Given the description of an element on the screen output the (x, y) to click on. 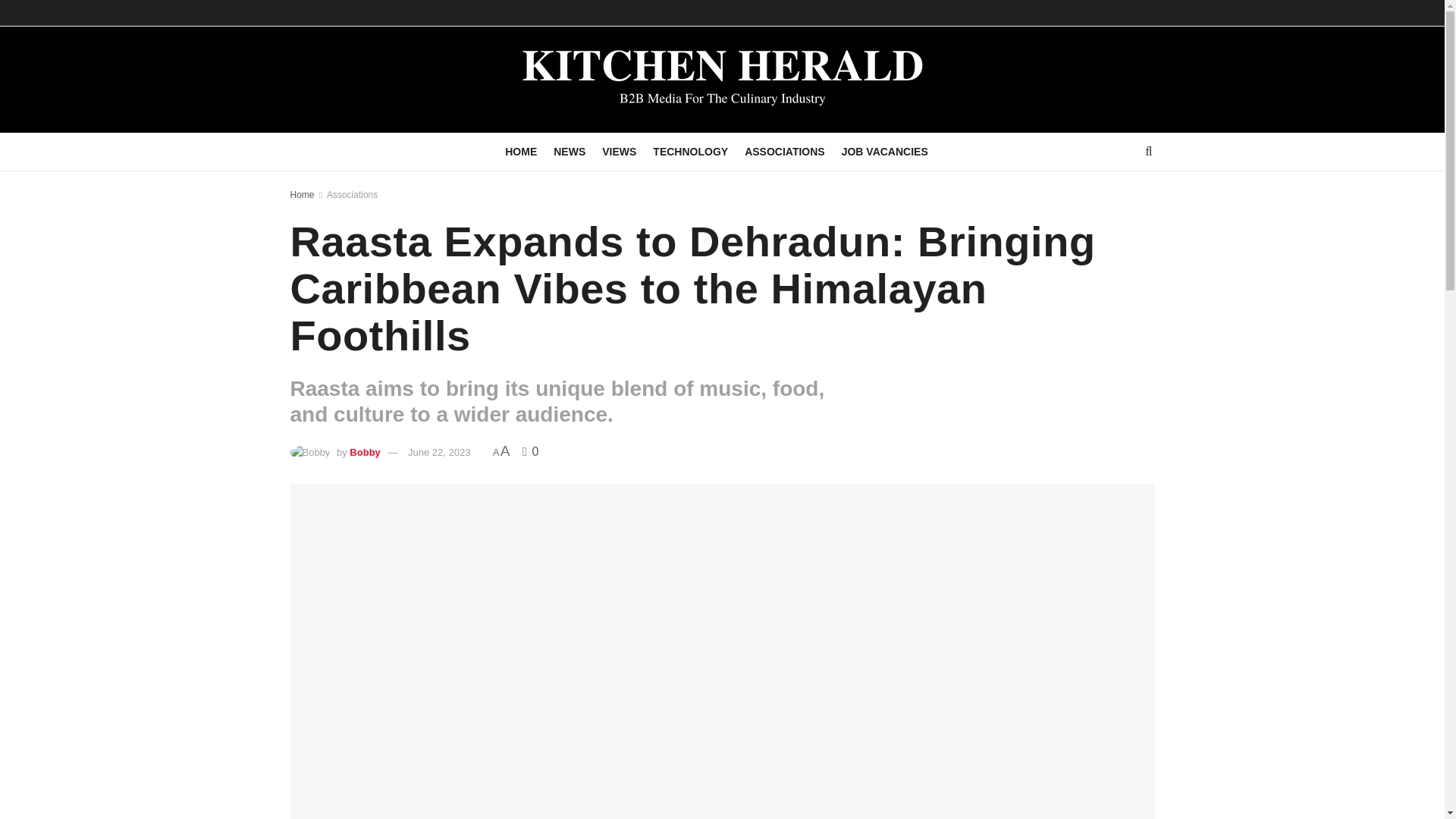
ASSOCIATIONS (784, 151)
TECHNOLOGY (690, 151)
VIEWS (619, 151)
JOB VACANCIES (884, 151)
